Given the description of an element on the screen output the (x, y) to click on. 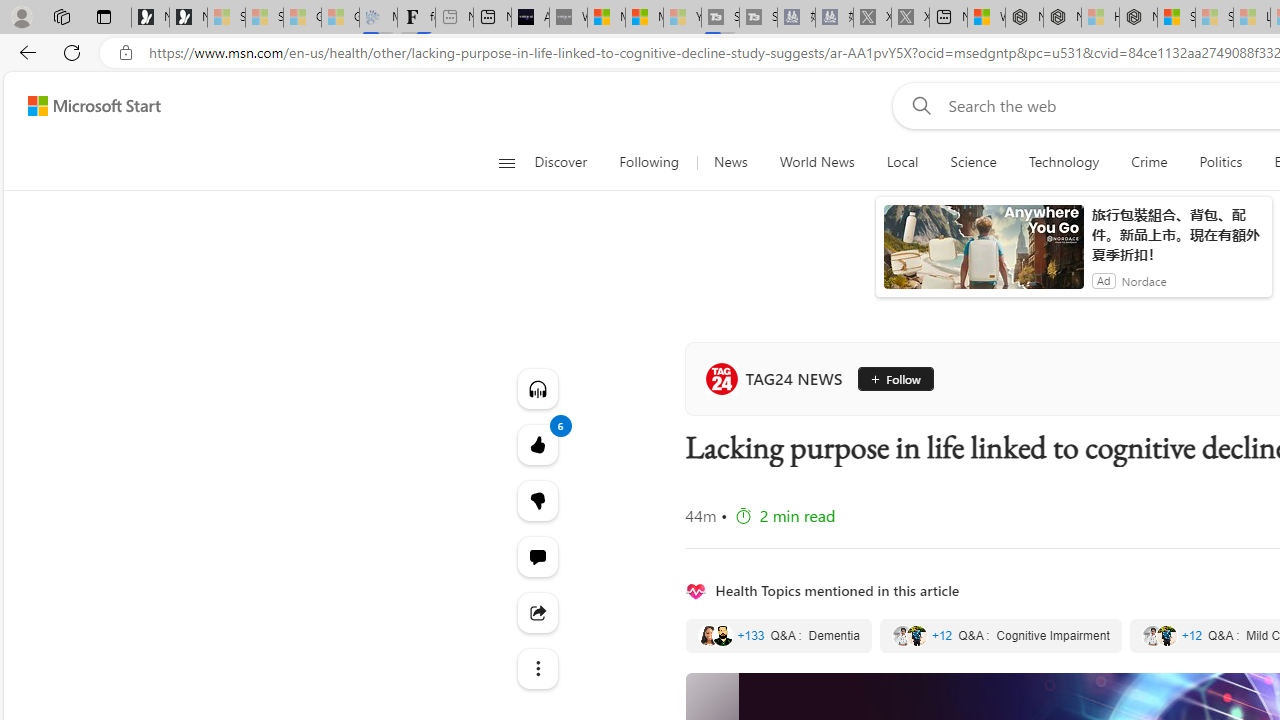
Dementia (777, 636)
AI Voice Changer for PC and Mac - Voice.ai (530, 17)
Share this story (537, 612)
Politics (1220, 162)
